Given the description of an element on the screen output the (x, y) to click on. 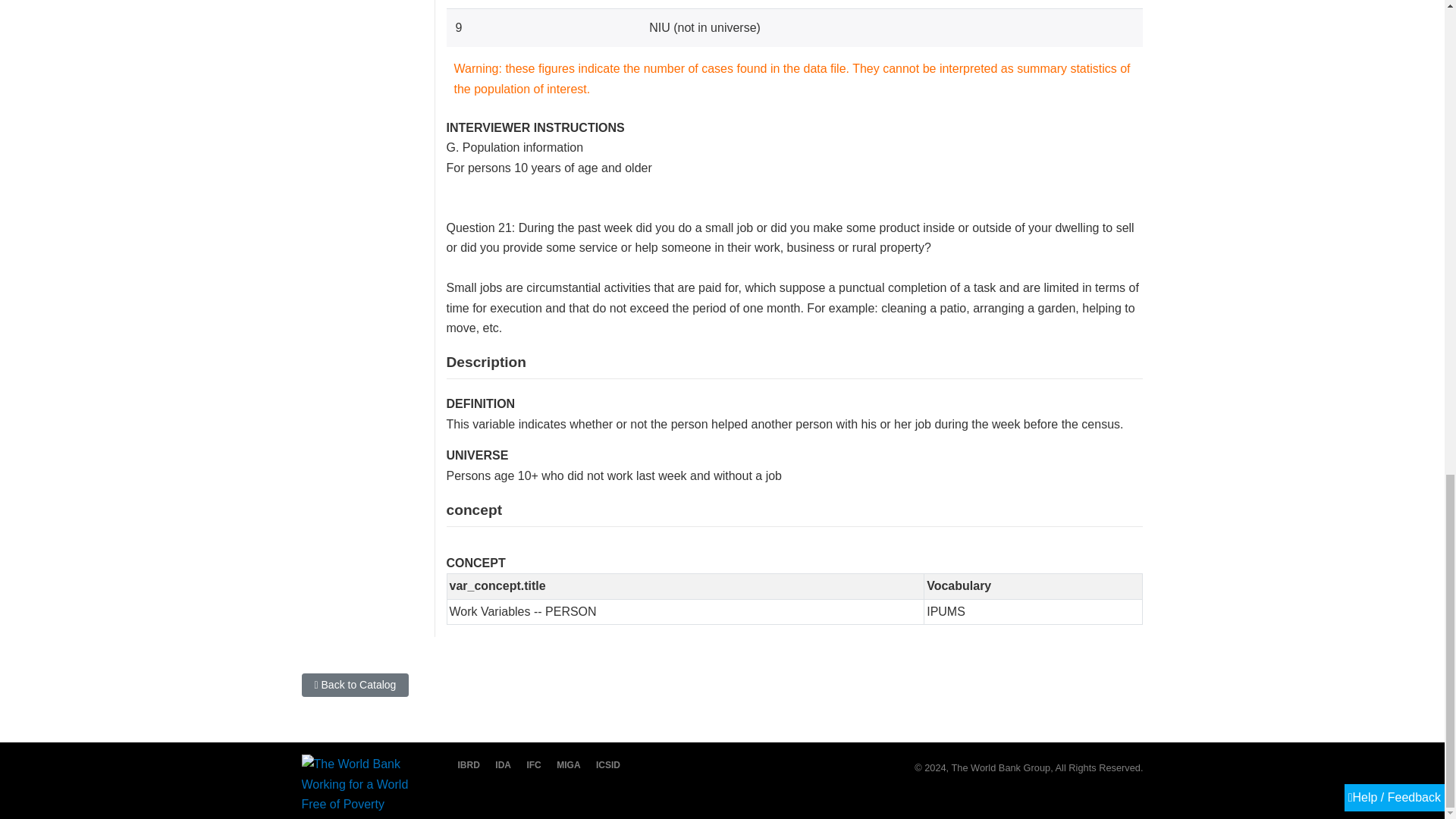
International Development Association (500, 765)
IFC (529, 765)
The World Bank Working for a World Free of Poverty (362, 784)
International Bank for Reconstruction and Development (465, 765)
IDA (500, 765)
Back to Catalog (355, 684)
MIGA (564, 765)
IBRD (465, 765)
ICSID (604, 765)
Multilateral Investment Guarantee Agency (564, 765)
